Given the description of an element on the screen output the (x, y) to click on. 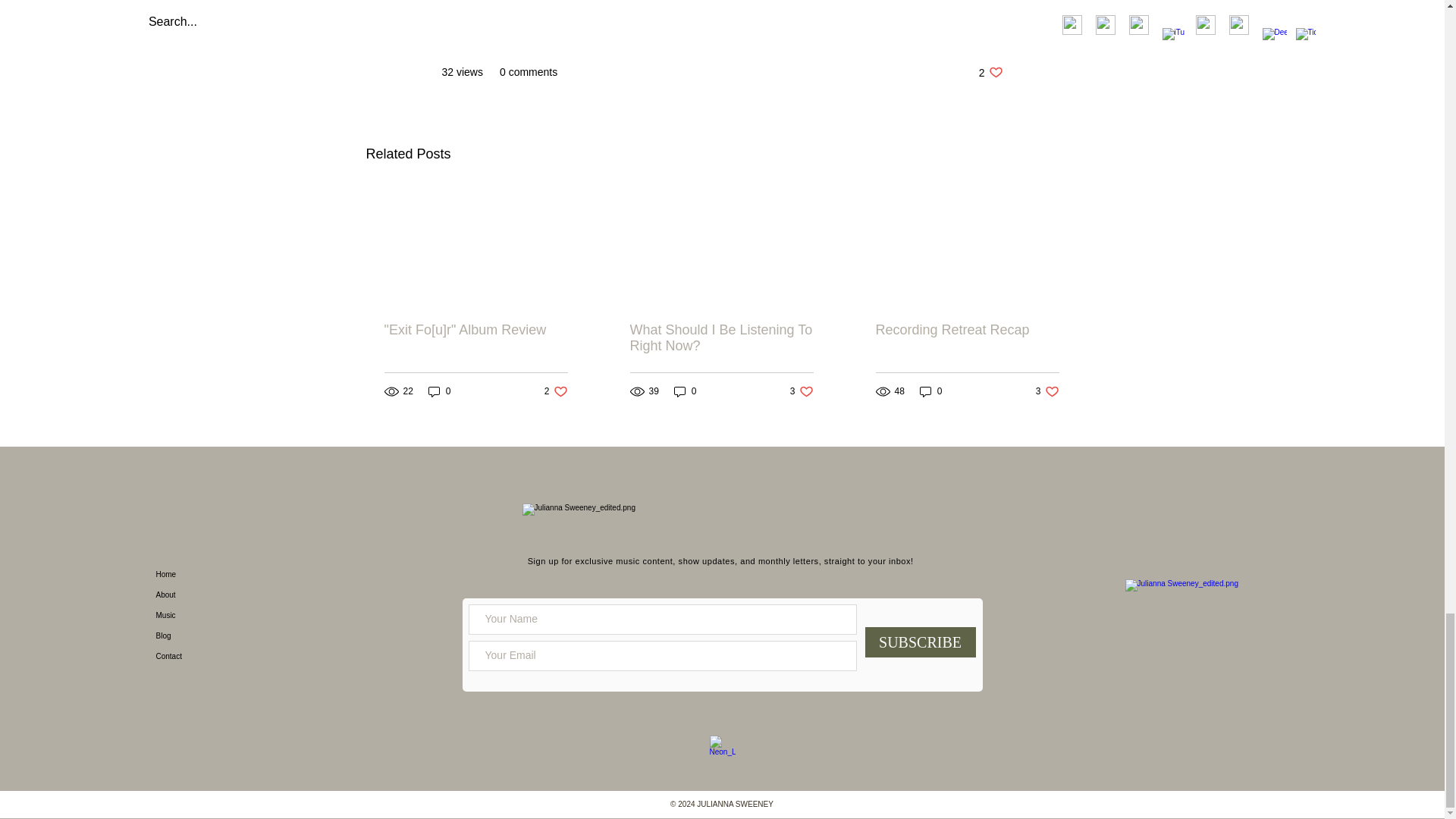
0 (439, 391)
0 (801, 391)
What Should I Be Listening To Right Now? (685, 391)
